Given the description of an element on the screen output the (x, y) to click on. 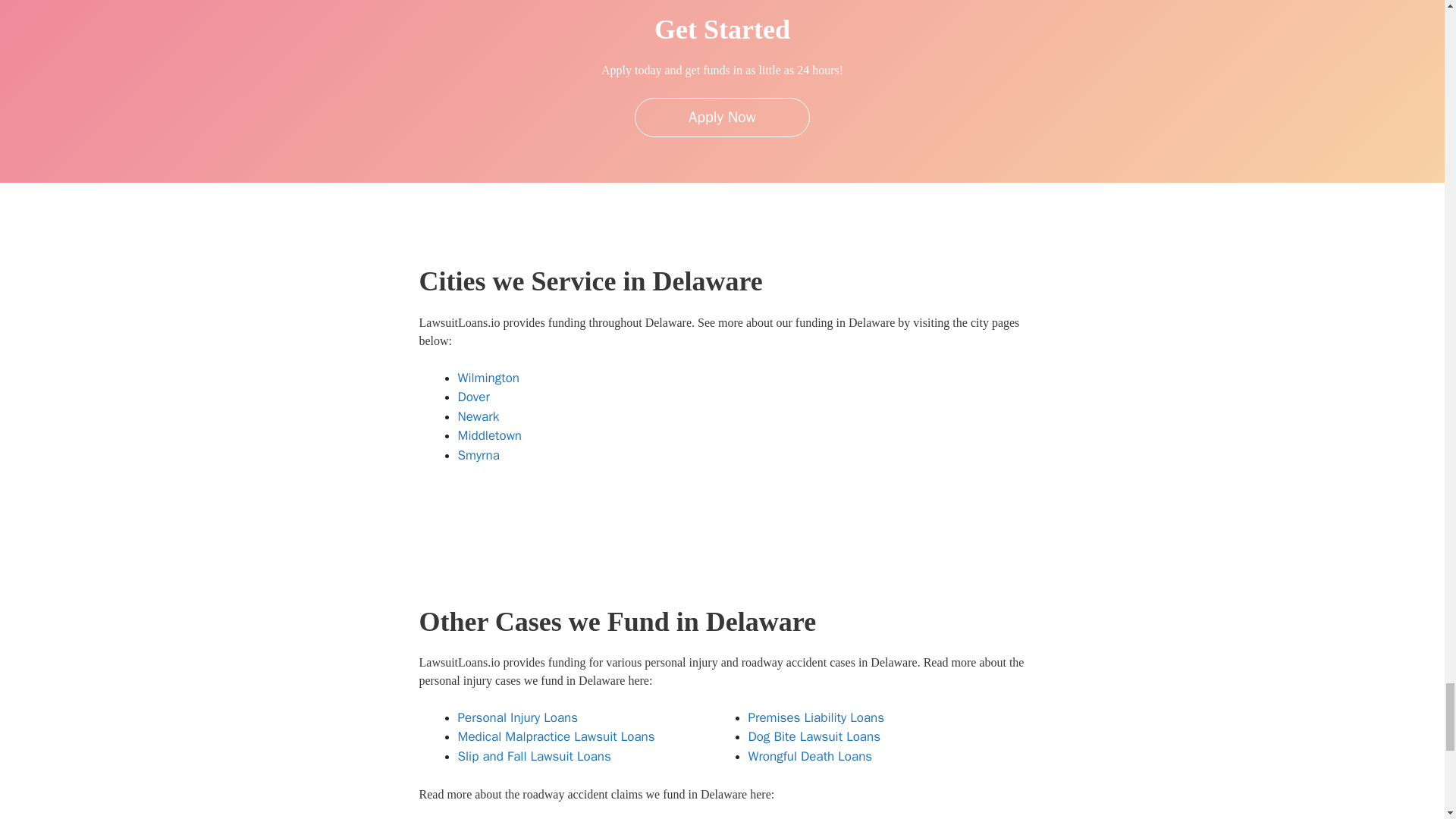
Dover (473, 396)
Medical Malpractice Lawsuit Loans (556, 736)
Middletown (490, 435)
Smyrna (478, 455)
Personal Injury Loans (518, 717)
Newark (478, 416)
Apply Now (721, 117)
Wilmington (488, 377)
